Given the description of an element on the screen output the (x, y) to click on. 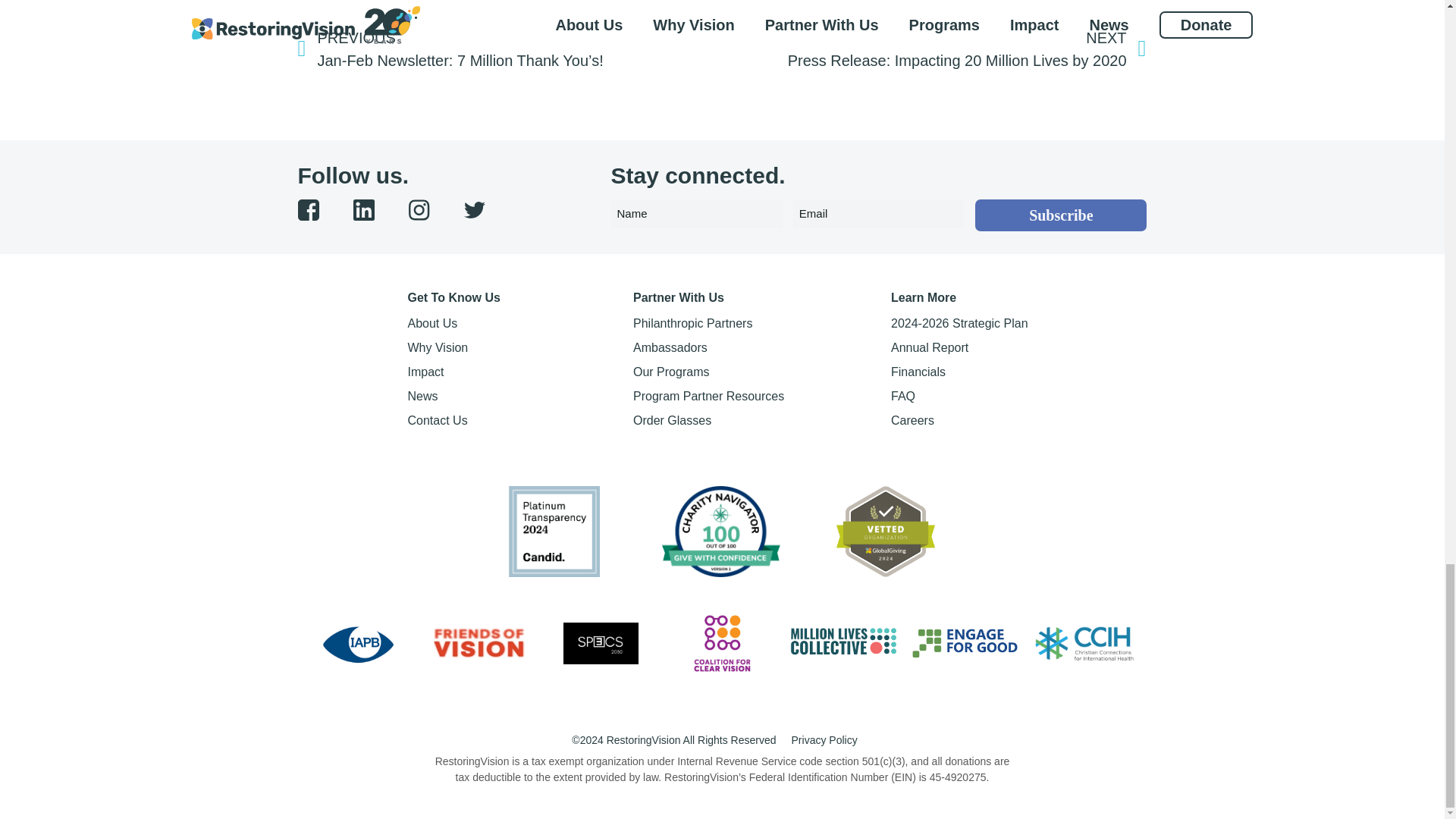
Subscribe (1061, 214)
